Given the description of an element on the screen output the (x, y) to click on. 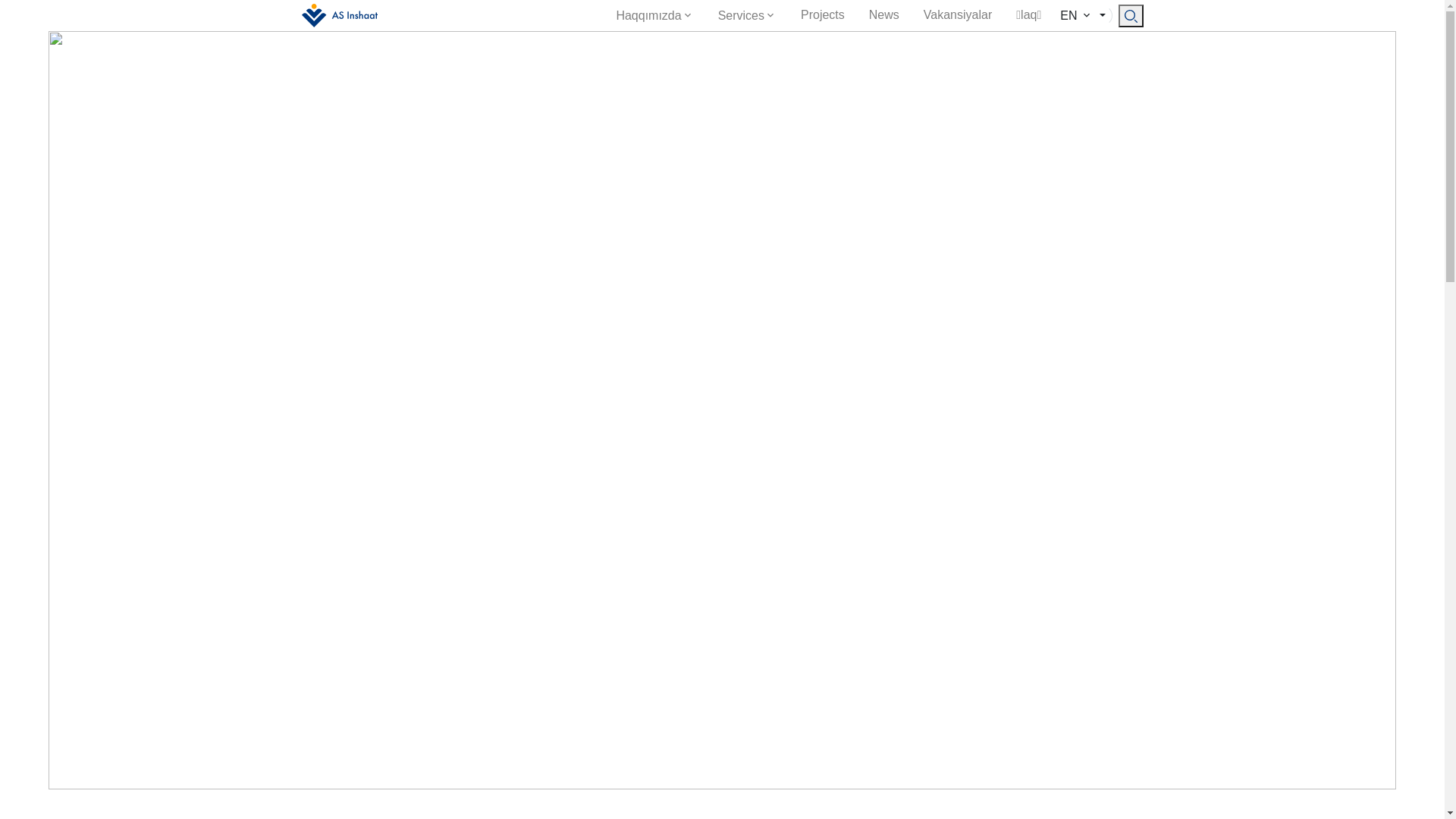
Vakansiyalar Element type: text (957, 15)
Projects Element type: text (822, 15)
Services Element type: text (747, 15)
News Element type: text (883, 15)
